Given the description of an element on the screen output the (x, y) to click on. 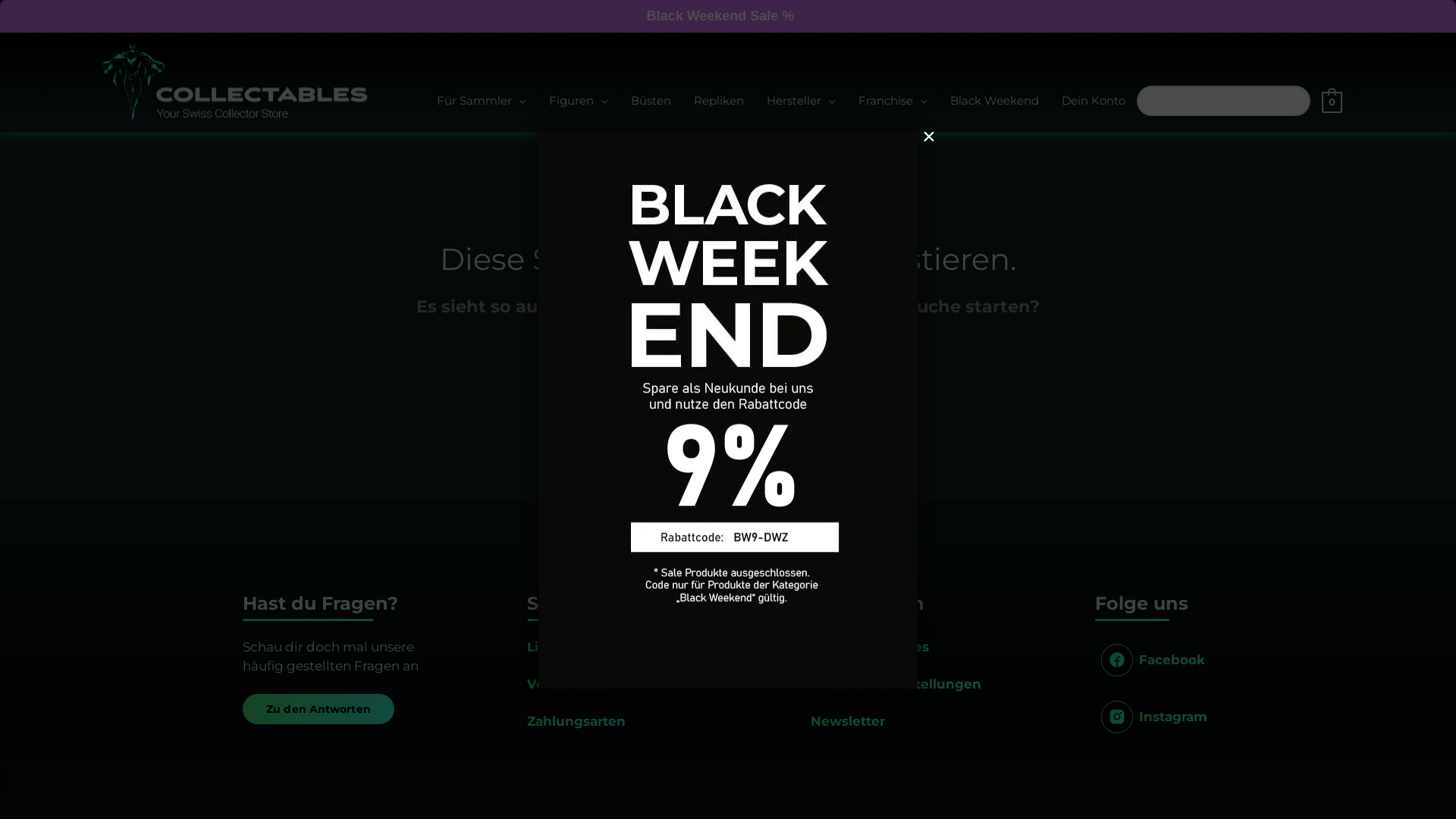
Suche Element type: text (851, 358)
Black Weekend Element type: text (994, 101)
Hersteller Element type: text (801, 101)
Infos zu Vorbestellungen Element type: text (895, 683)
Zahlungsarten Element type: text (576, 720)
Versandarten Element type: text (572, 683)
Franchise Element type: text (892, 101)
Repliken Element type: text (718, 101)
Facebook Element type: text (1153, 659)
Lieferbedingungen Element type: text (592, 646)
Black Weekend Sale % Element type: text (720, 16)
0 Element type: text (1331, 101)
Instagram Element type: text (1154, 716)
Zu den Antworten Element type: text (318, 708)
Dein Konto Element type: text (1093, 101)
Newsletter Element type: text (847, 720)
Figuren Element type: text (578, 101)
